Given the description of an element on the screen output the (x, y) to click on. 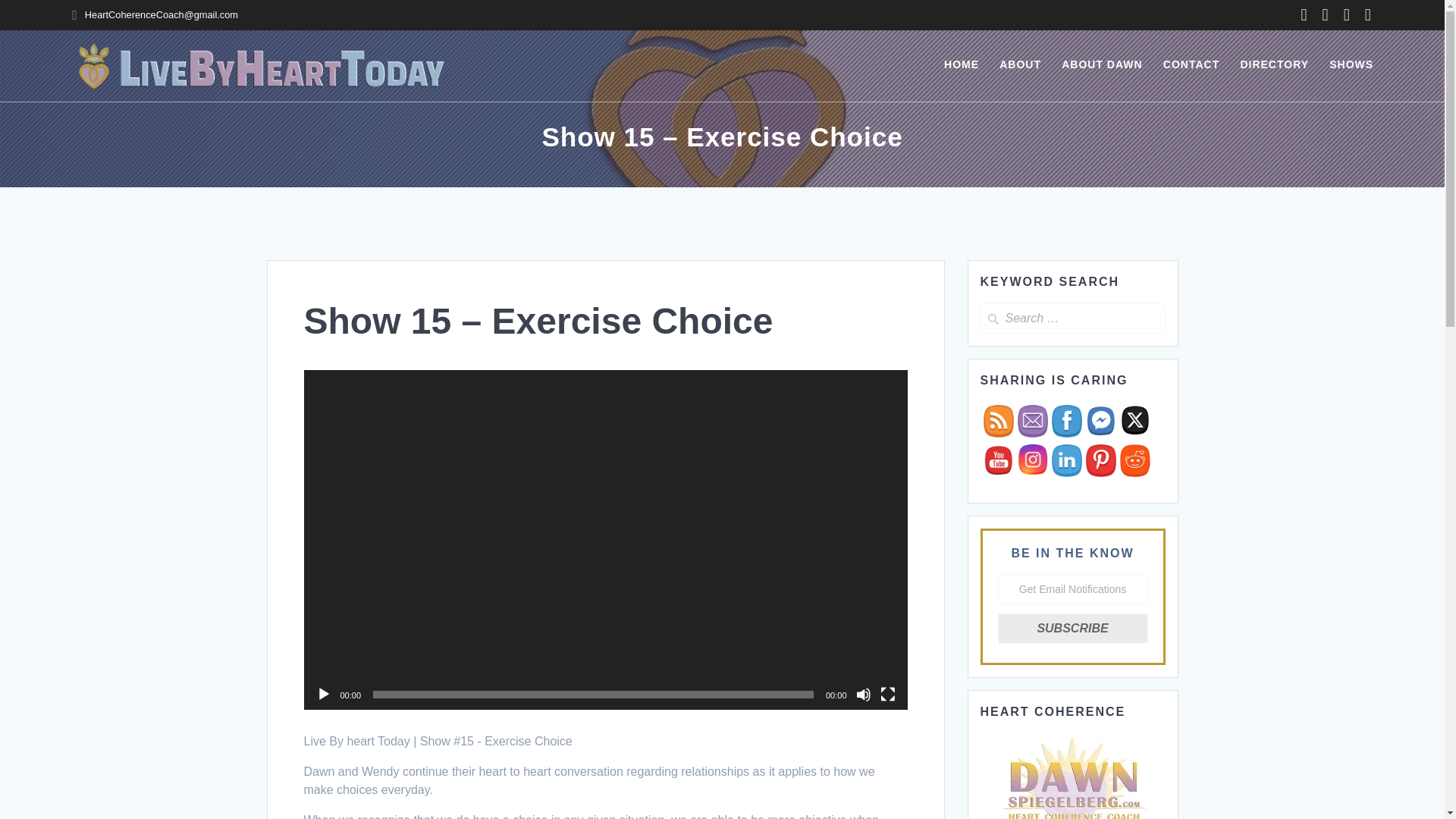
ABOUT DAWN (1101, 65)
CONTACT (1191, 65)
Mute (863, 694)
HOME (960, 65)
Play (322, 694)
SUBSCRIBE (1072, 628)
YouTube (997, 459)
DIRECTORY (1274, 65)
ABOUT (1019, 65)
SHOWS (1351, 65)
Fullscreen (887, 694)
RSS (997, 420)
Subscribe (1032, 420)
Facebook (1066, 420)
Twitter (1134, 419)
